Given the description of an element on the screen output the (x, y) to click on. 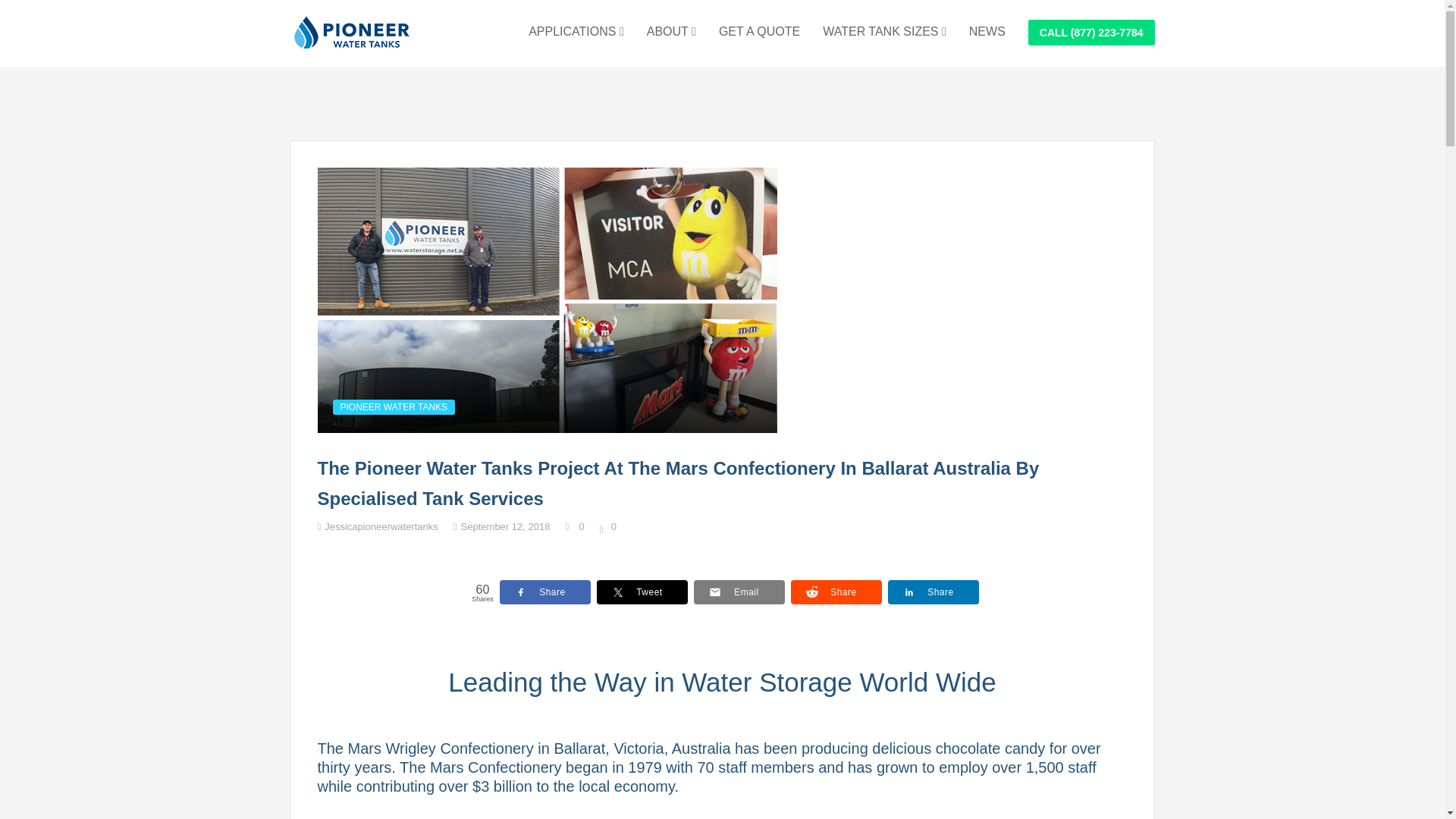
ABOUT (670, 31)
NEWS (987, 31)
APPLICATIONS (576, 31)
GET A QUOTE (759, 31)
Pioneer Water Tanks America (349, 31)
WATER TANK SIZES (884, 31)
ABOUT (670, 31)
APPLICATIONS (576, 31)
